Given the description of an element on the screen output the (x, y) to click on. 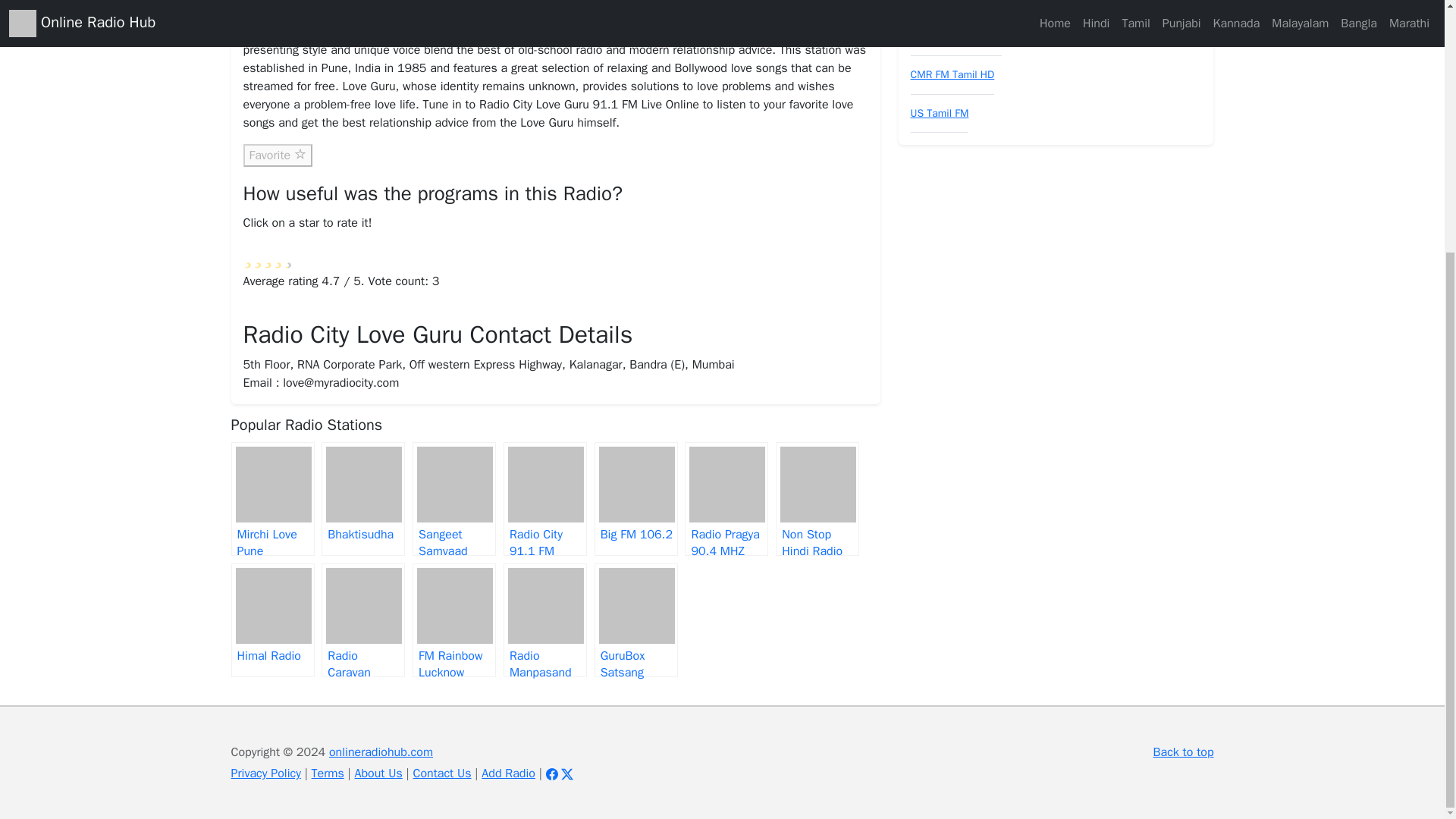
Bhaktisudha (362, 499)
Radio City 91.1 FM (544, 499)
Hindi radio station (588, 13)
Big FM 106.2 (636, 499)
Radio Caravan (362, 620)
Hindi radio station (588, 13)
Non Stop Hindi Radio (817, 499)
Himal Radio (272, 620)
Radio Pragya 90.4 MHZ (726, 499)
Mirchi Love Pune (272, 499)
Radio City 91.1 FM (544, 499)
Radio Manpasand (544, 620)
Favorite (277, 155)
Mirchi Love Pune (272, 499)
Himal Radio (272, 620)
